Given the description of an element on the screen output the (x, y) to click on. 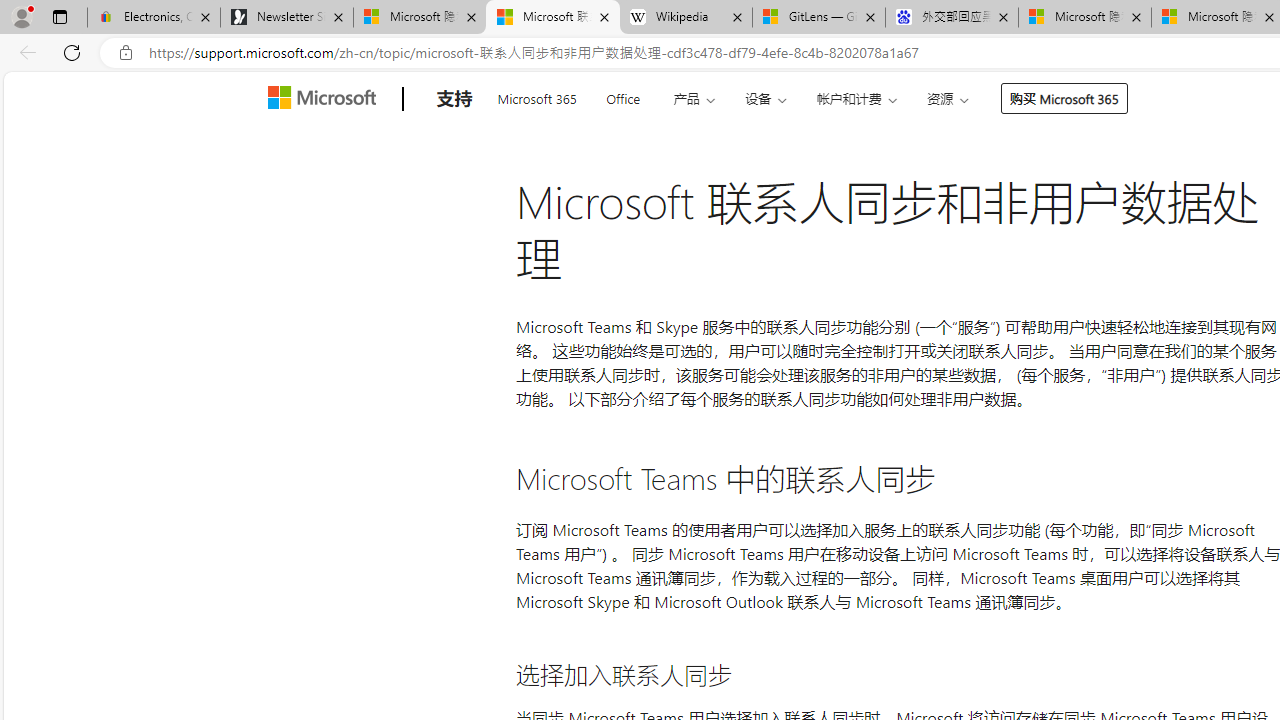
Wikipedia (685, 17)
Electronics, Cars, Fashion, Collectibles & More | eBay (154, 17)
Microsoft (326, 99)
